Given the description of an element on the screen output the (x, y) to click on. 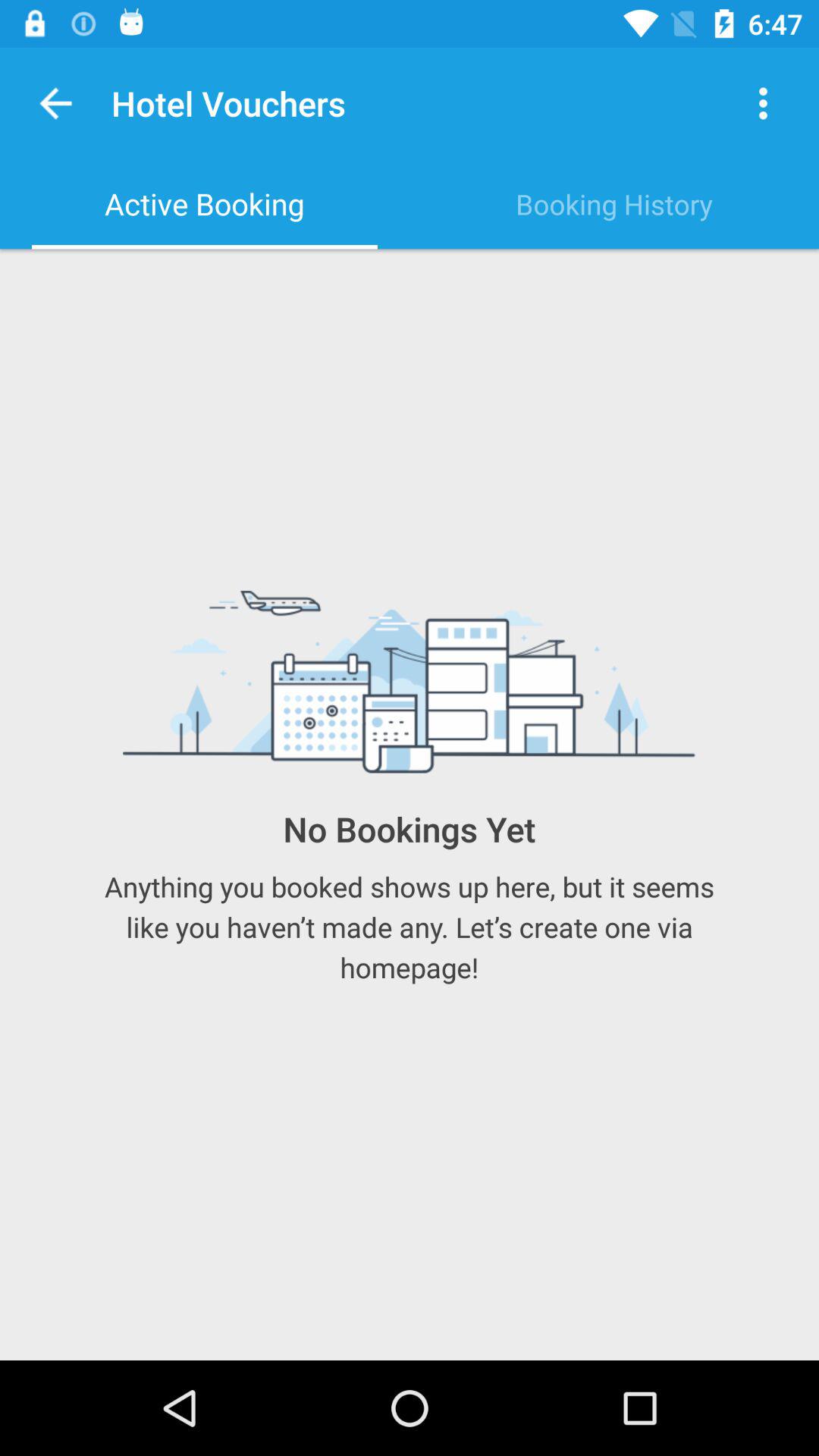
turn off item to the right of the active booking item (614, 204)
